Given the description of an element on the screen output the (x, y) to click on. 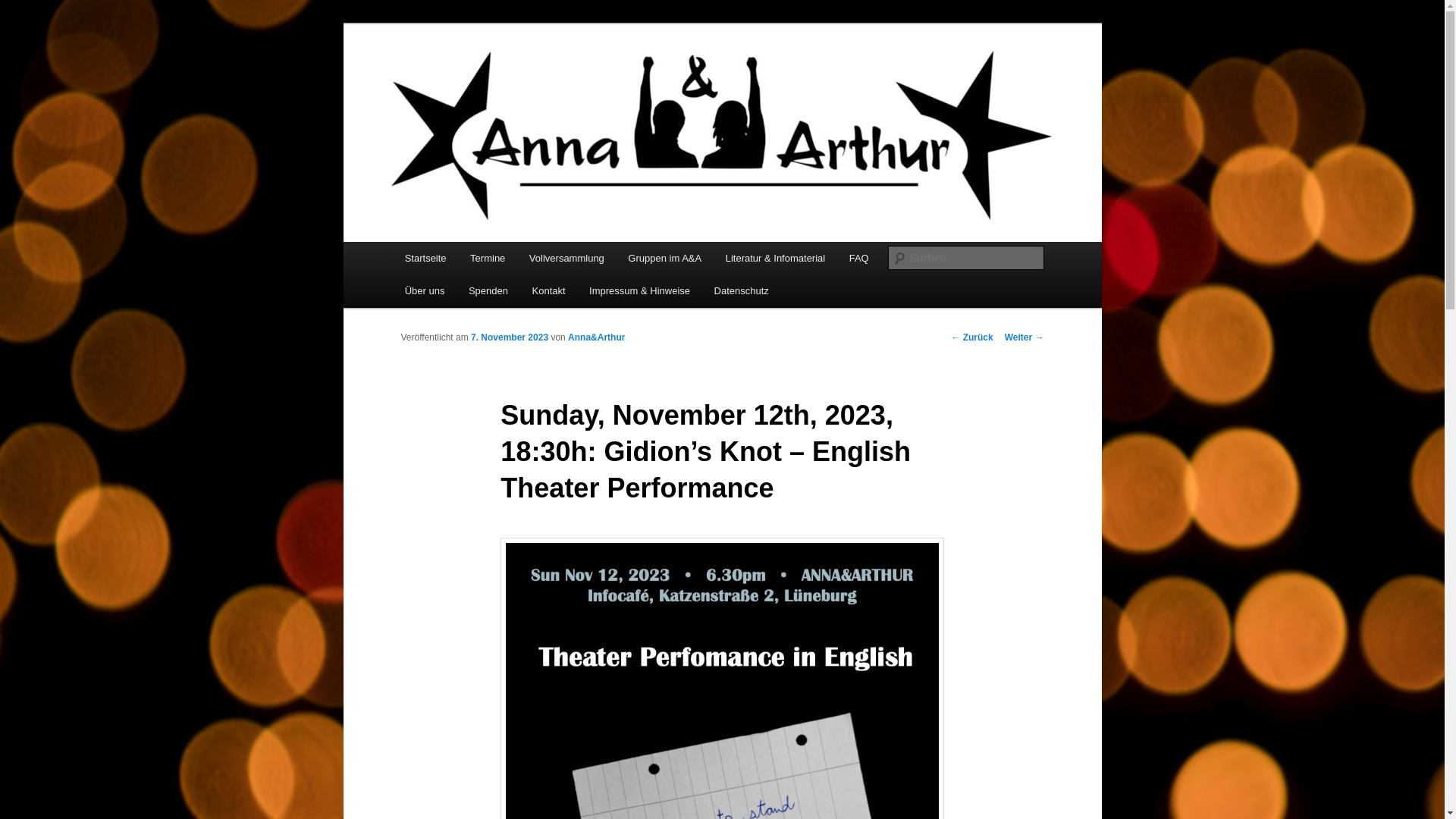
Termine (487, 257)
Kontakt (548, 290)
Vollversammlung (565, 257)
FAQ (858, 257)
Startseite (425, 257)
Datenschutz (740, 290)
Spenden (488, 290)
7:05 (509, 337)
7. November 2023 (509, 337)
Suchen (25, 8)
